Given the description of an element on the screen output the (x, y) to click on. 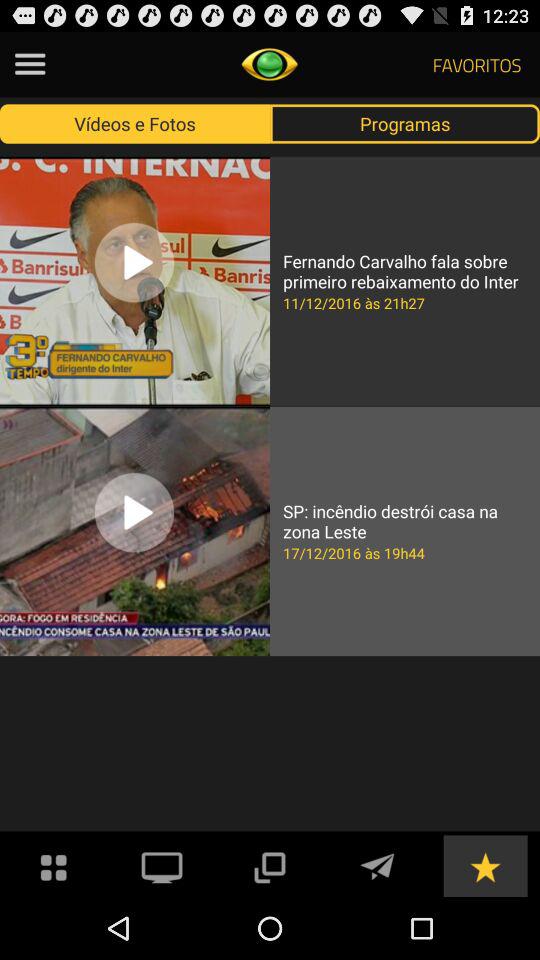
add to favorite list (485, 865)
